Given the description of an element on the screen output the (x, y) to click on. 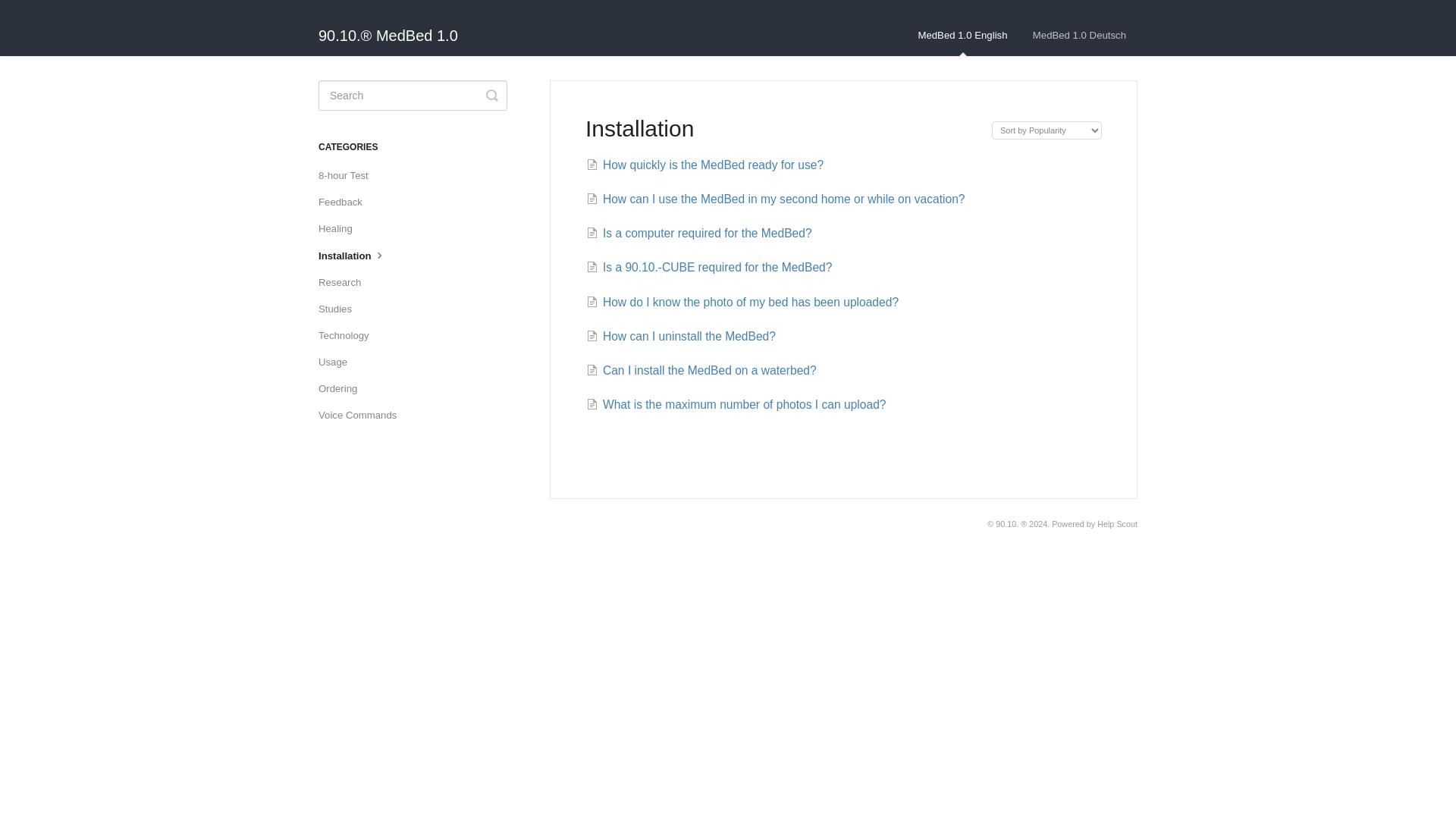
Is a 90.10.-CUBE required for the MedBed? (709, 267)
Is a computer required for the MedBed? (699, 232)
MedBed 1.0 English (961, 35)
Help Scout (1117, 523)
search-query (412, 95)
MedBed 1.0 Deutsch (1079, 35)
What is the maximum number of photos I can upload? (736, 404)
Ordering (343, 388)
Studies (340, 309)
How can I uninstall the MedBed? (681, 336)
